Given the description of an element on the screen output the (x, y) to click on. 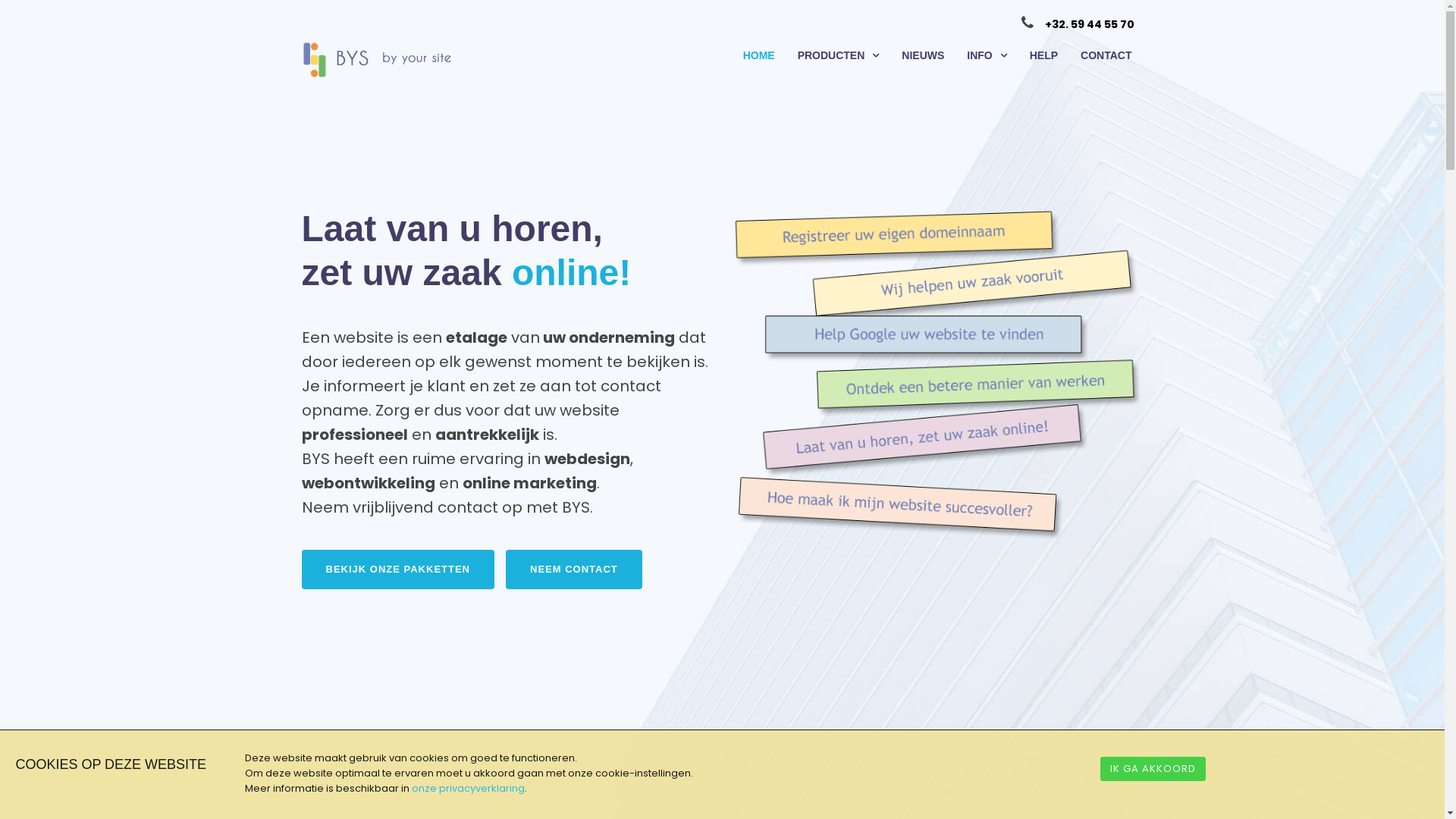
INFO Element type: text (986, 55)
CONTACT Element type: text (1105, 55)
website bouwen Element type: hover (938, 373)
PRODUCTEN Element type: text (838, 55)
onze privacyverklaring Element type: text (467, 788)
IK GA AKKOORD Element type: text (1152, 768)
NEEM CONTACT Element type: text (573, 569)
BEKIJK ONZE PAKKETTEN Element type: text (398, 569)
HOME Element type: text (758, 55)
NIEUWS Element type: text (922, 55)
+32. 59 44 55 70 Element type: text (1089, 24)
HELP Element type: text (1043, 55)
